Given the description of an element on the screen output the (x, y) to click on. 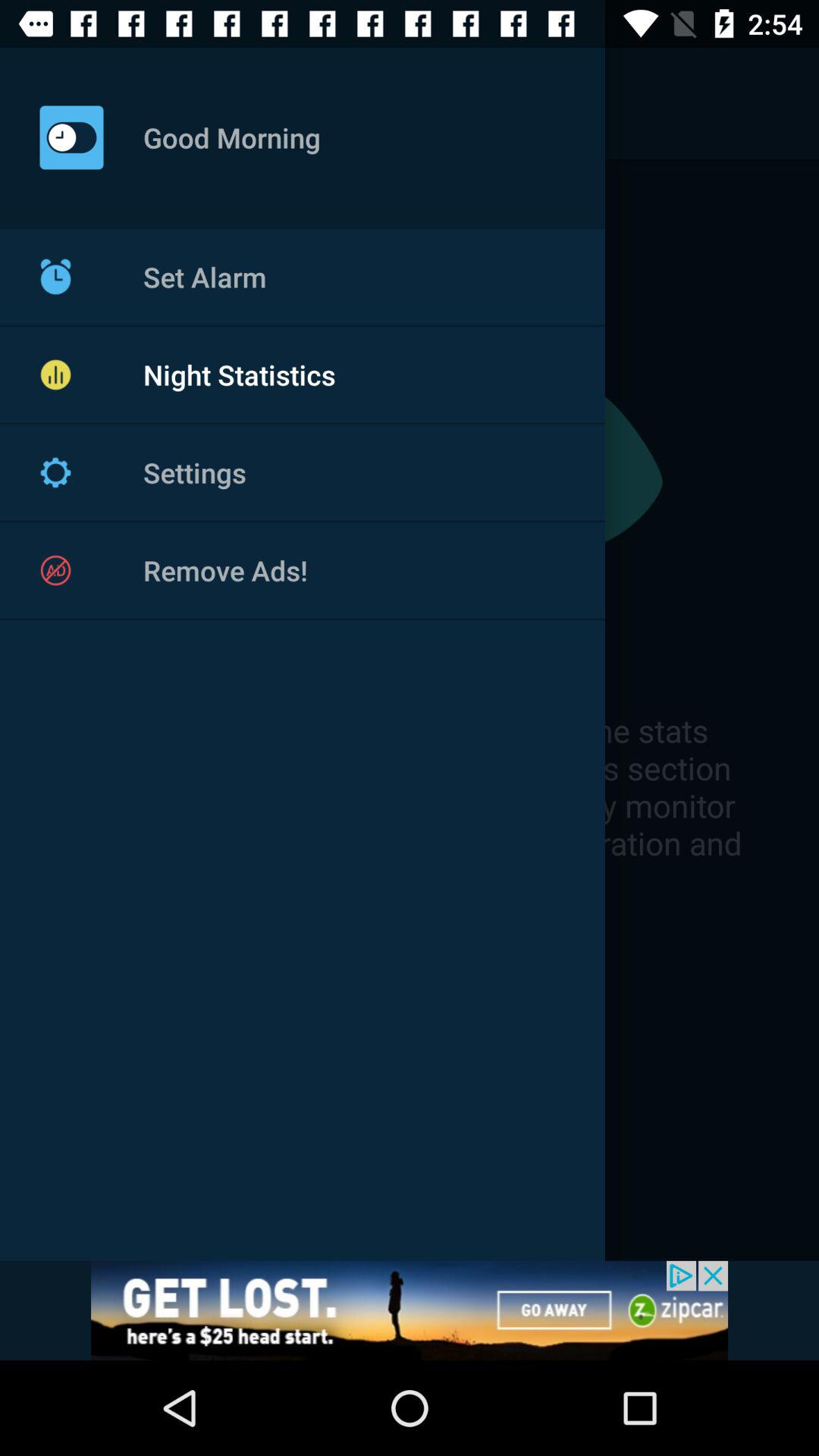
click the remove ads icon (55, 570)
